Given the description of an element on the screen output the (x, y) to click on. 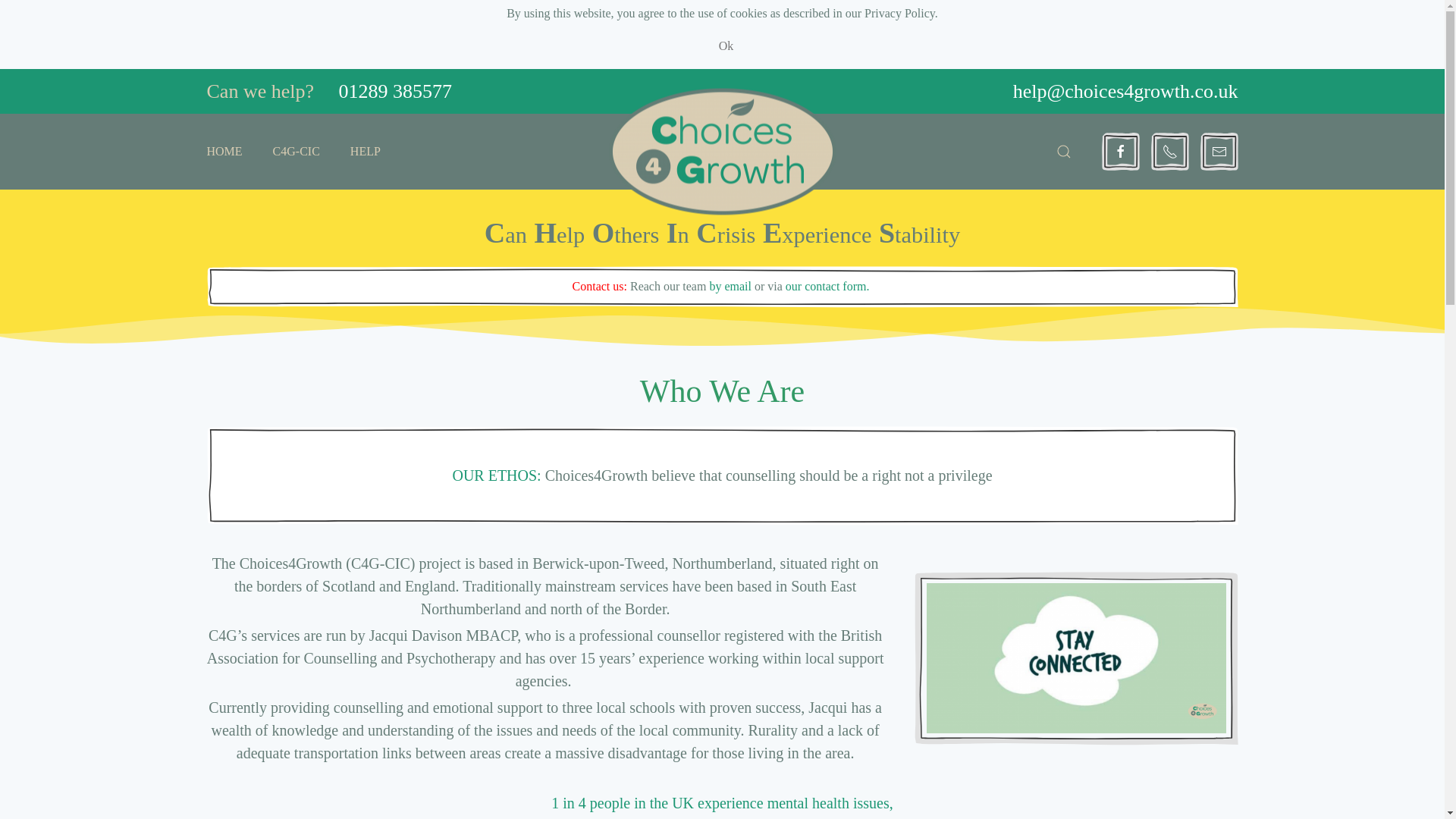
C4G-CIC (295, 151)
our contact form.  (829, 286)
Get in touch... (829, 286)
Ok (726, 46)
01289 385577 (395, 91)
Get in touch... (730, 286)
by email (730, 286)
